Given the description of an element on the screen output the (x, y) to click on. 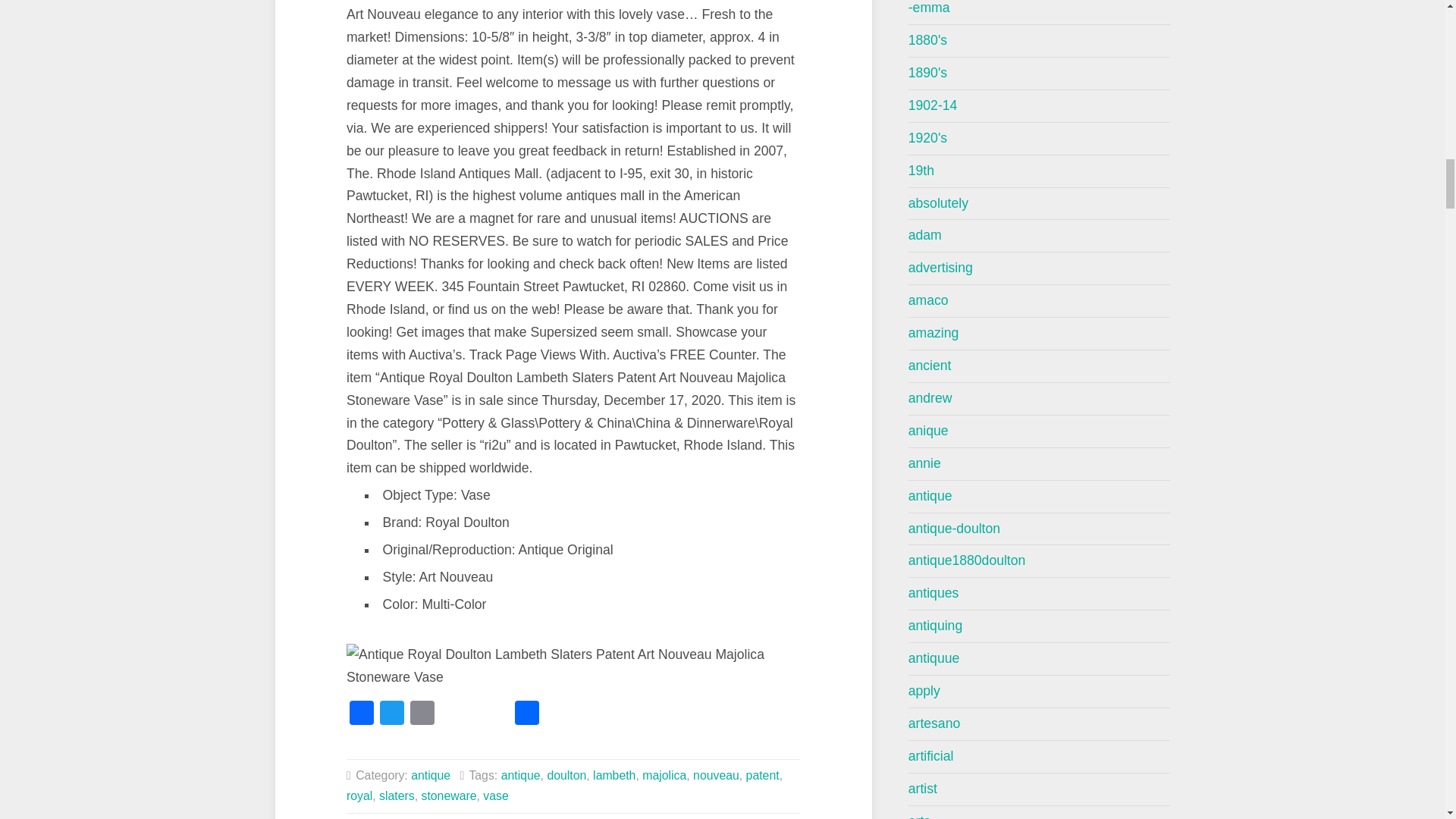
Share (526, 714)
antique (520, 775)
antique (429, 775)
Twitter (392, 714)
slaters (396, 795)
vase (495, 795)
majolica (663, 775)
royal (359, 795)
patent (761, 775)
doulton (566, 775)
